Given the description of an element on the screen output the (x, y) to click on. 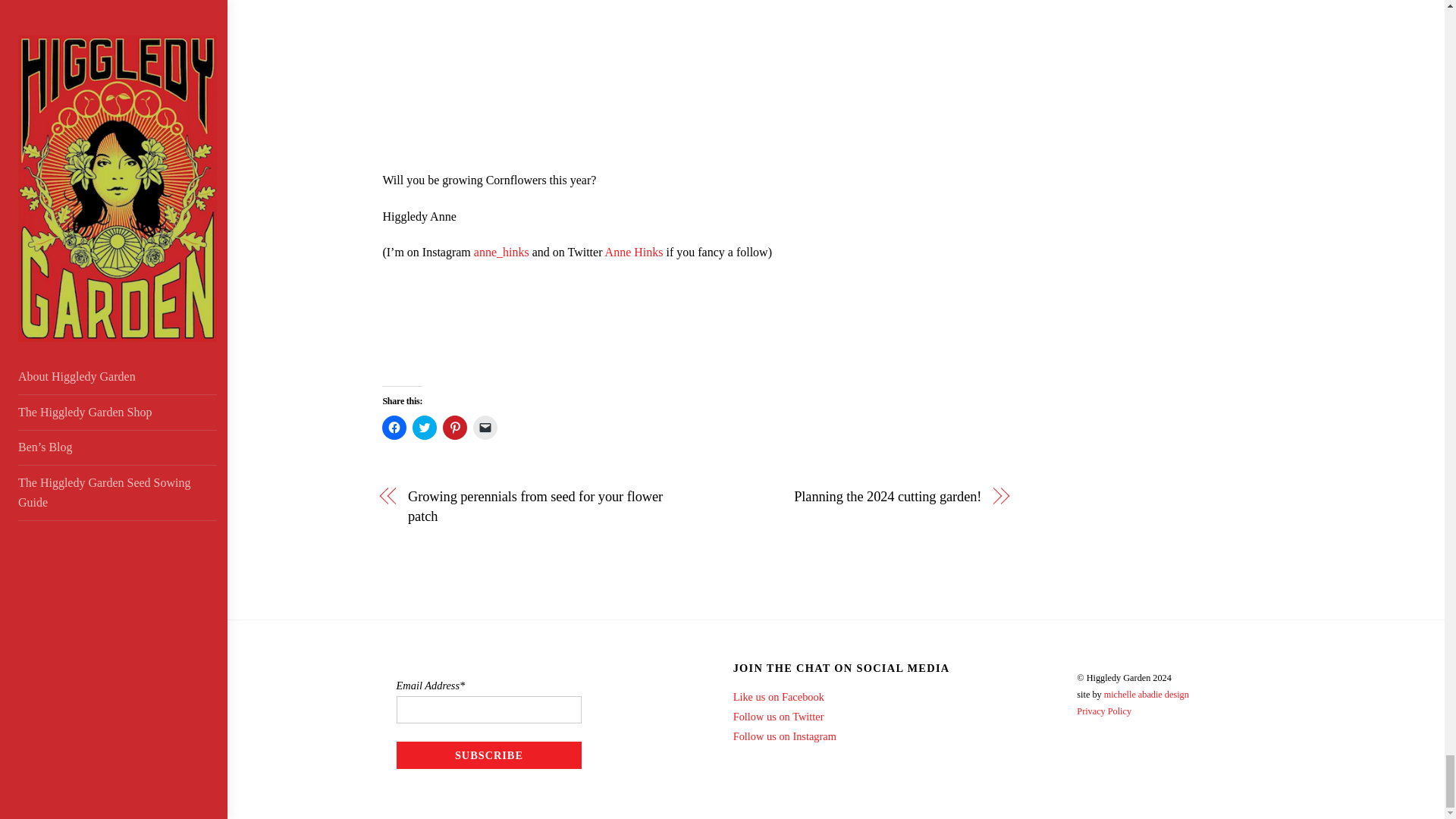
Planning the 2024 cutting garden! (847, 496)
Subscribe (489, 755)
Click to email a link to a friend (485, 427)
Click to share on Pinterest (454, 427)
Growing perennials from seed for your flower patch (541, 506)
Click to share on Facebook (393, 427)
Click to share on Twitter (424, 427)
Anne Hinks (634, 251)
